Given the description of an element on the screen output the (x, y) to click on. 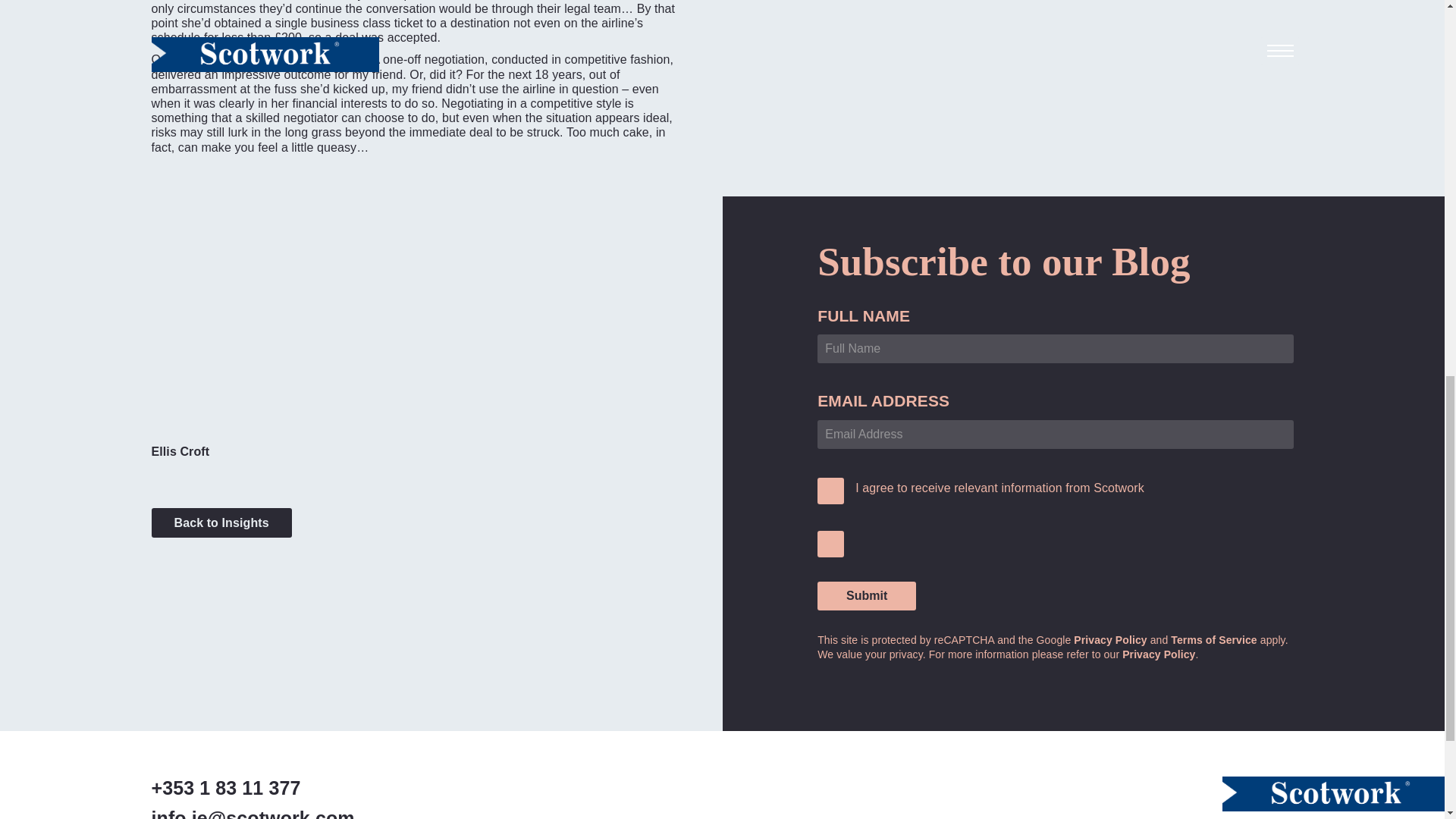
Back to Insights (221, 522)
Google Privacy Policy (1110, 639)
Privacy Policy (1158, 654)
Terms of Service (1213, 639)
Privacy Policy (1110, 639)
Scotwork privacy policy (1158, 654)
Submit (865, 595)
Google Terms (1213, 639)
